Given the description of an element on the screen output the (x, y) to click on. 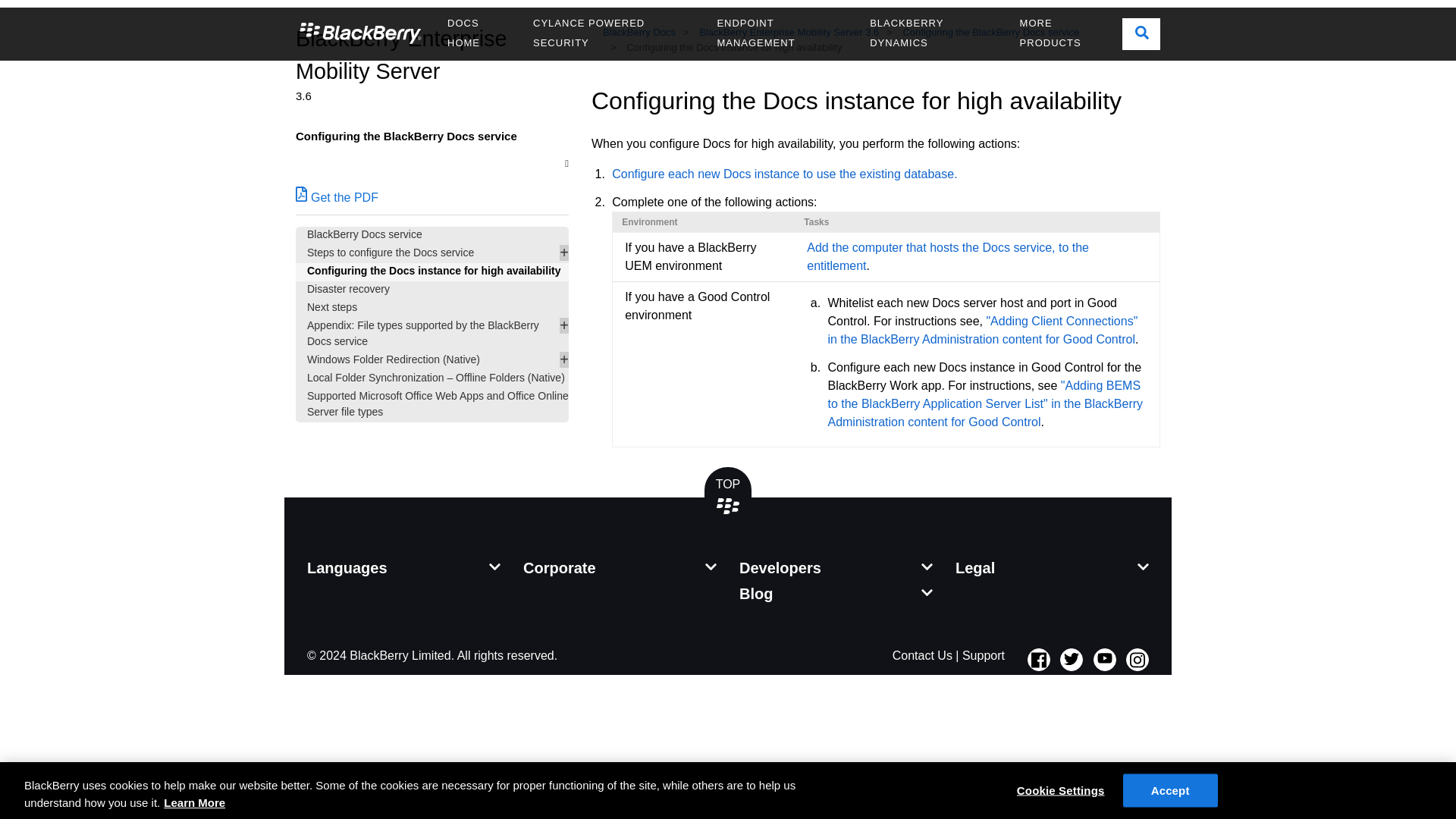
MORE PRODUCTS (1065, 33)
BLACKBERRY DYNAMICS (933, 33)
DOCS HOME (478, 33)
ENDPOINT MANAGEMENT (781, 33)
CYLANCE POWERED SECURITY (612, 33)
